Given the description of an element on the screen output the (x, y) to click on. 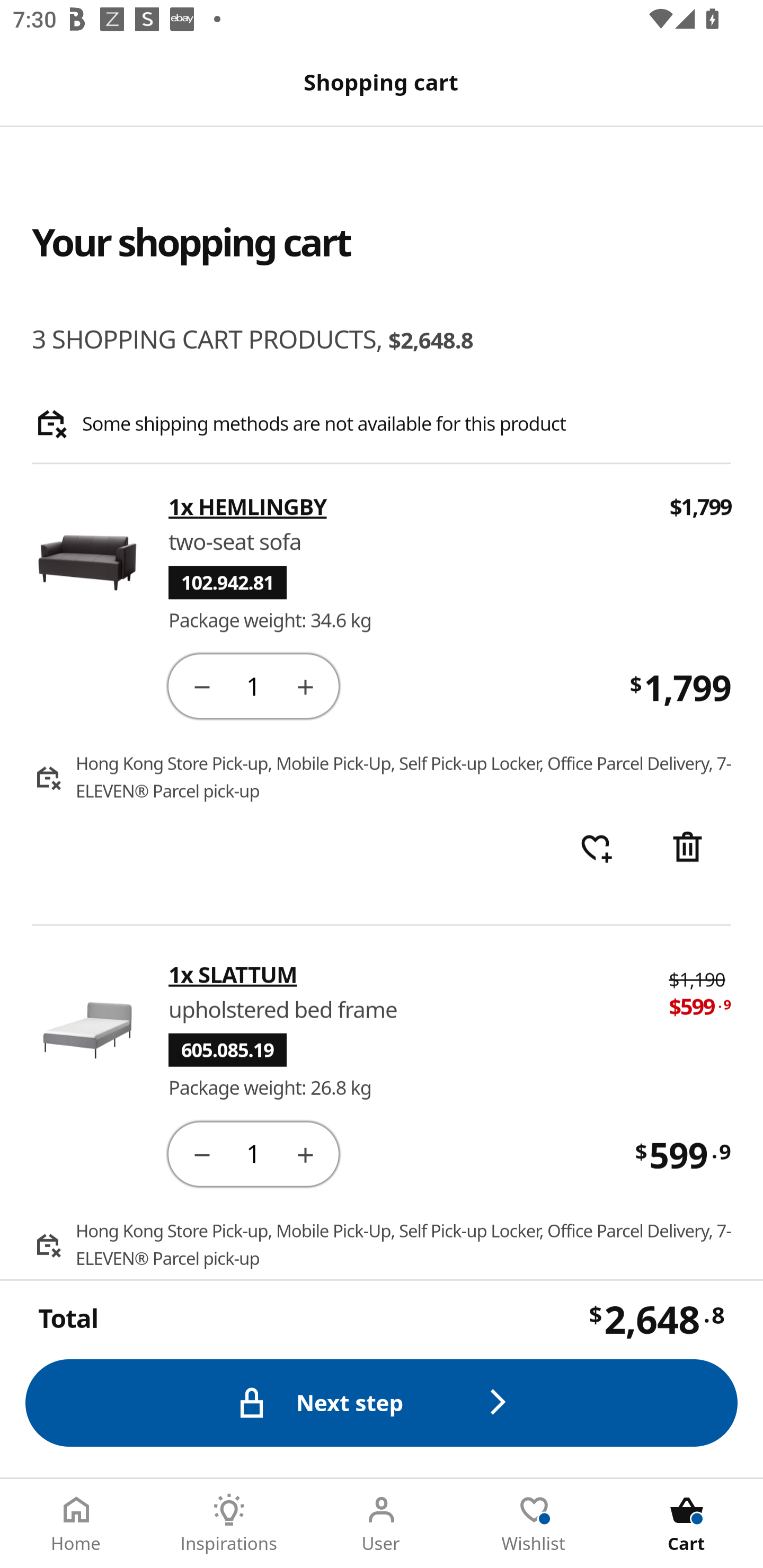
1x  HEMLINGBY 1x  HEMLINGBY (406, 507)
1 (253, 685)
 (201, 685)
 (305, 685)
  (595, 848)
 (686, 848)
1x  SLATTUM 1x  SLATTUM (405, 974)
1 (253, 1153)
 (201, 1153)
 (305, 1153)
Home
Tab 1 of 5 (76, 1522)
Inspirations
Tab 2 of 5 (228, 1522)
User
Tab 3 of 5 (381, 1522)
Wishlist
Tab 4 of 5 (533, 1522)
Cart
Tab 5 of 5 (686, 1522)
